Given the description of an element on the screen output the (x, y) to click on. 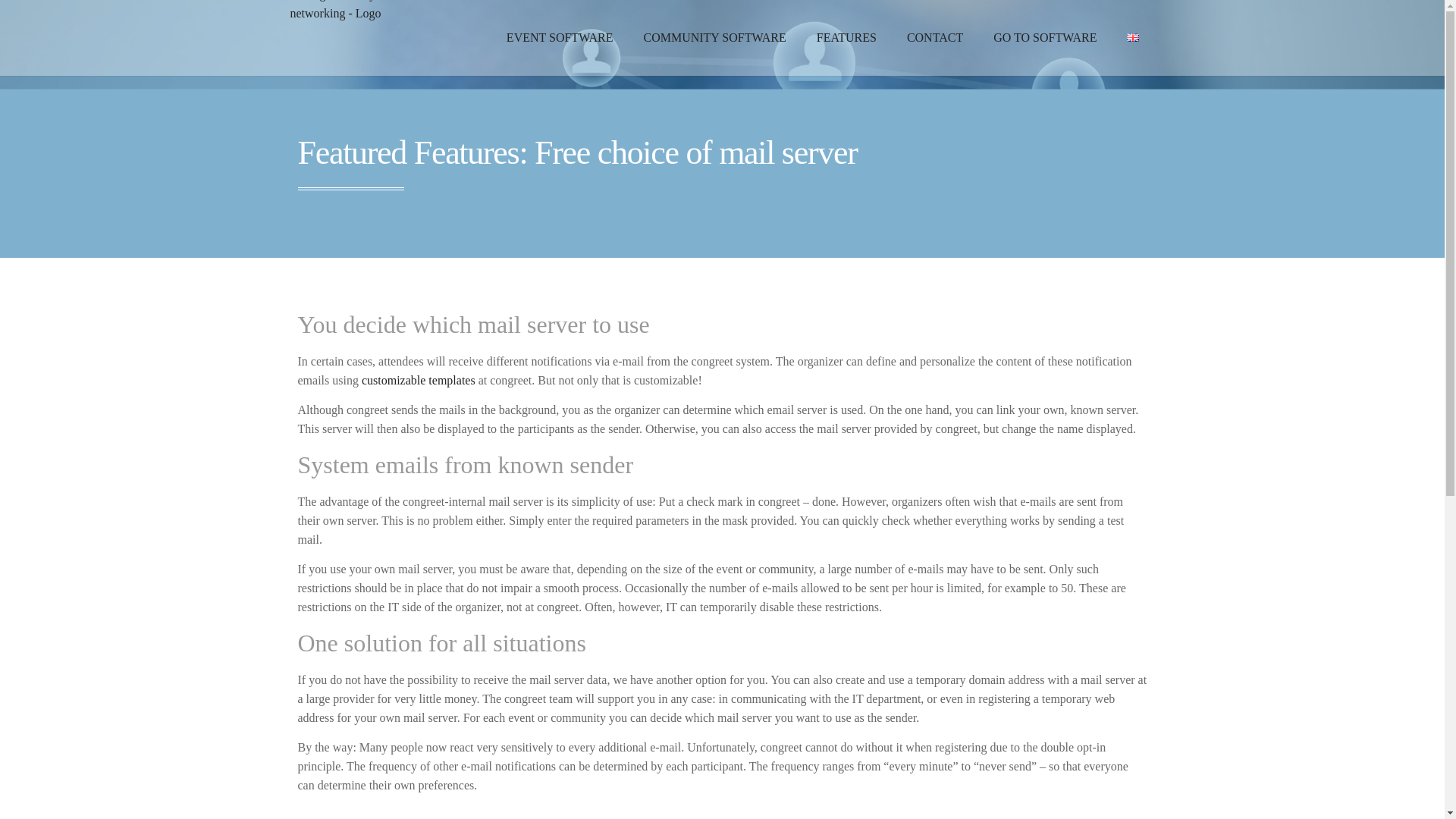
EVENT SOFTWARE (560, 38)
FEATURES (846, 38)
GO TO SOFTWARE (1045, 38)
COMMUNITY SOFTWARE (713, 38)
customizable templates (418, 379)
CONTACT (934, 38)
